Given the description of an element on the screen output the (x, y) to click on. 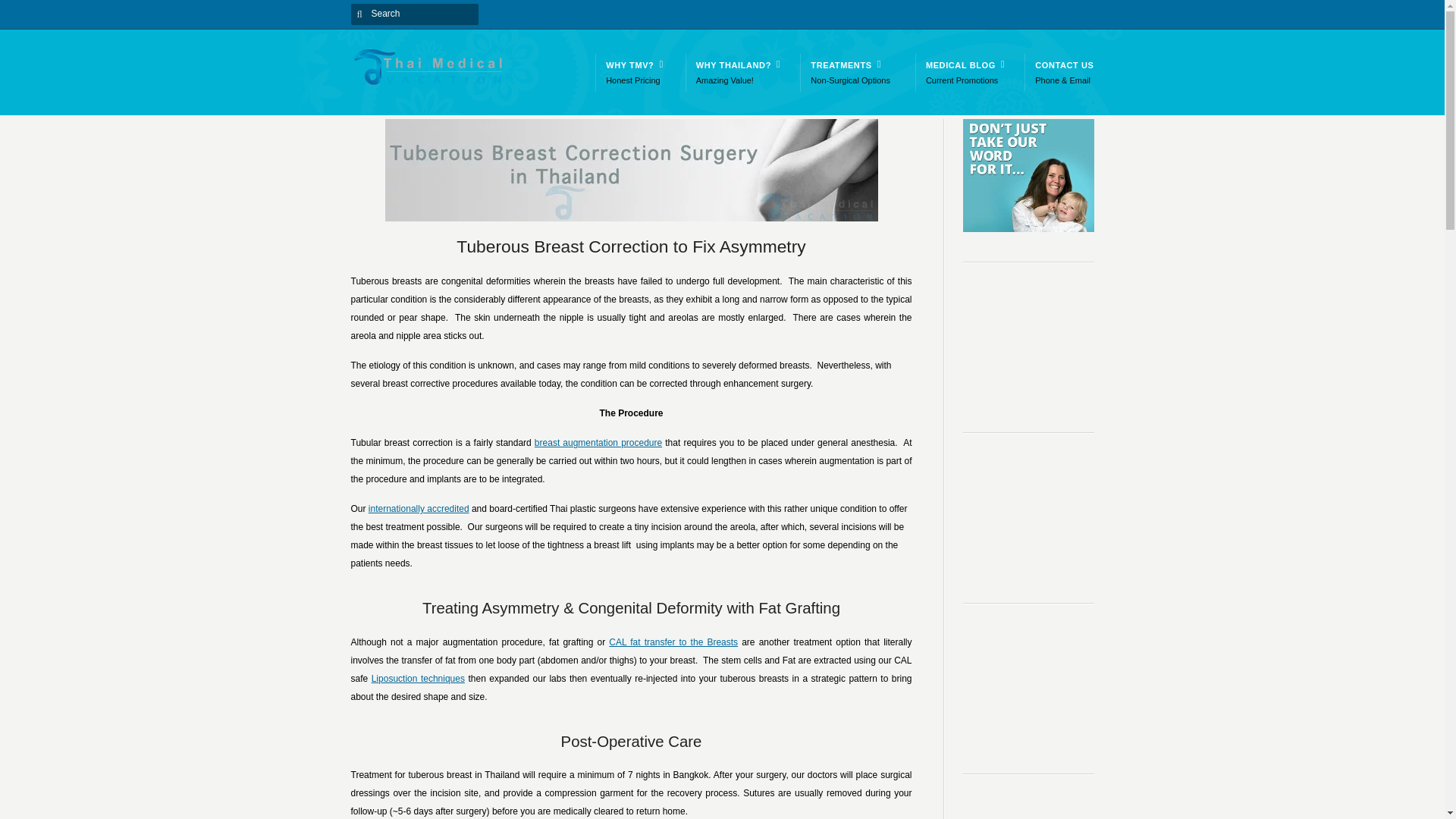
Search (735, 71)
Fixed Prices (417, 13)
